Given the description of an element on the screen output the (x, y) to click on. 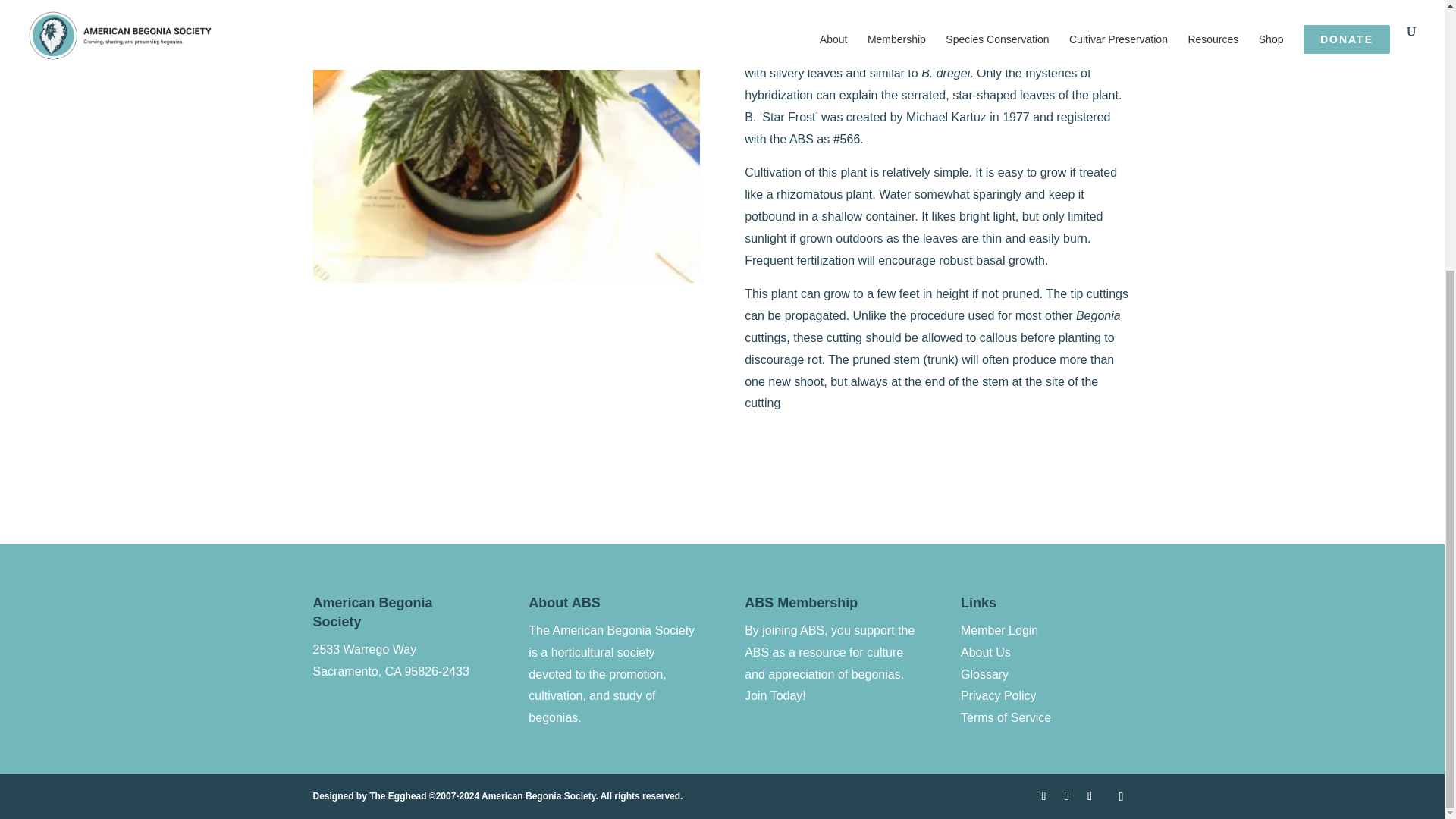
Begonia 'Star Frost' grown by Carol and Peter Notaras (505, 278)
Begonia 'Star Frost' grown by Carol and Peter Notaras (505, 141)
Premium WordPress Development (497, 796)
